Given the description of an element on the screen output the (x, y) to click on. 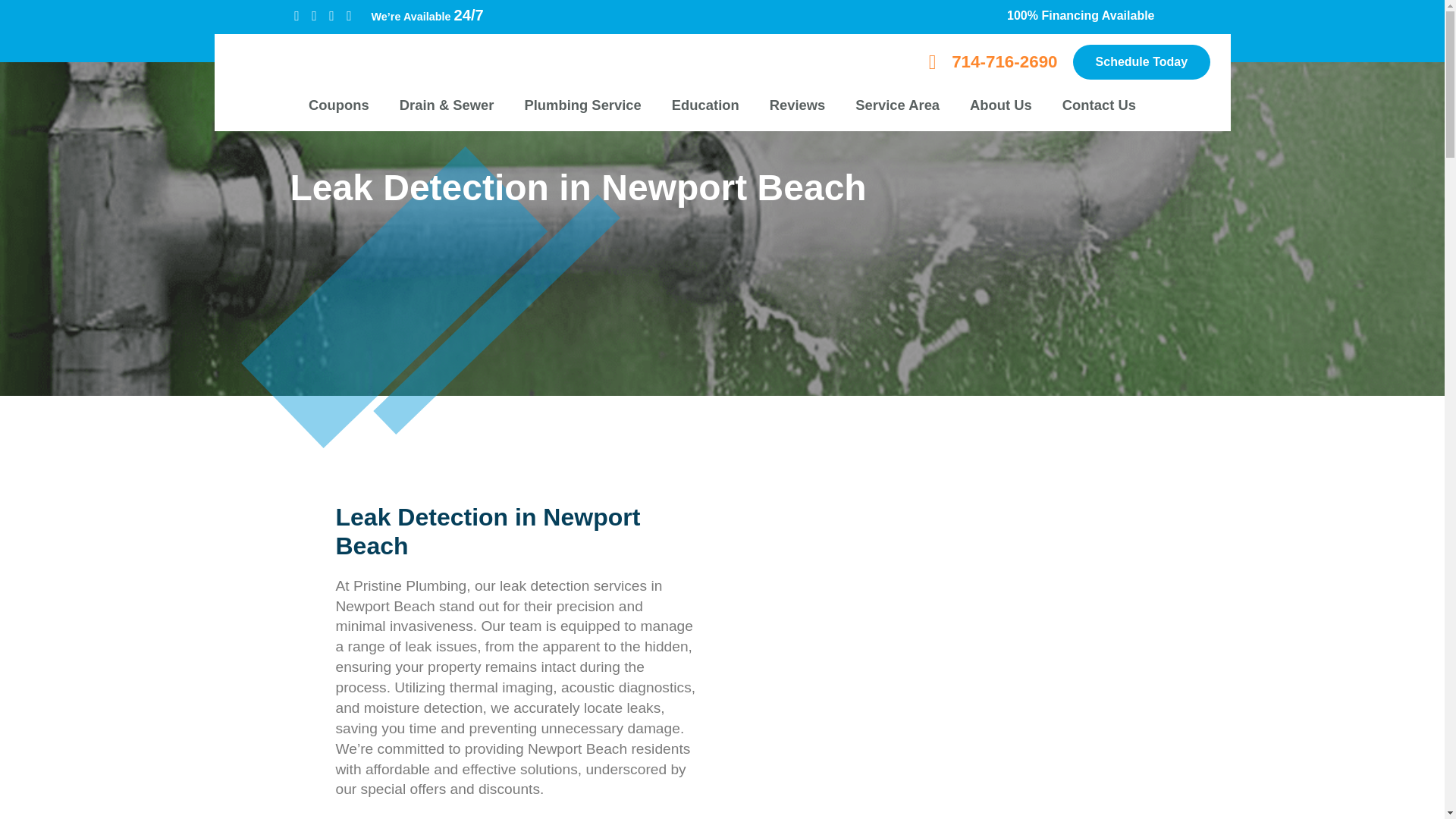
Education (705, 104)
714-716-2690 (1004, 61)
Schedule Today (1142, 62)
Coupons (339, 104)
Reviews (797, 104)
Plumbing Service (582, 104)
